Given the description of an element on the screen output the (x, y) to click on. 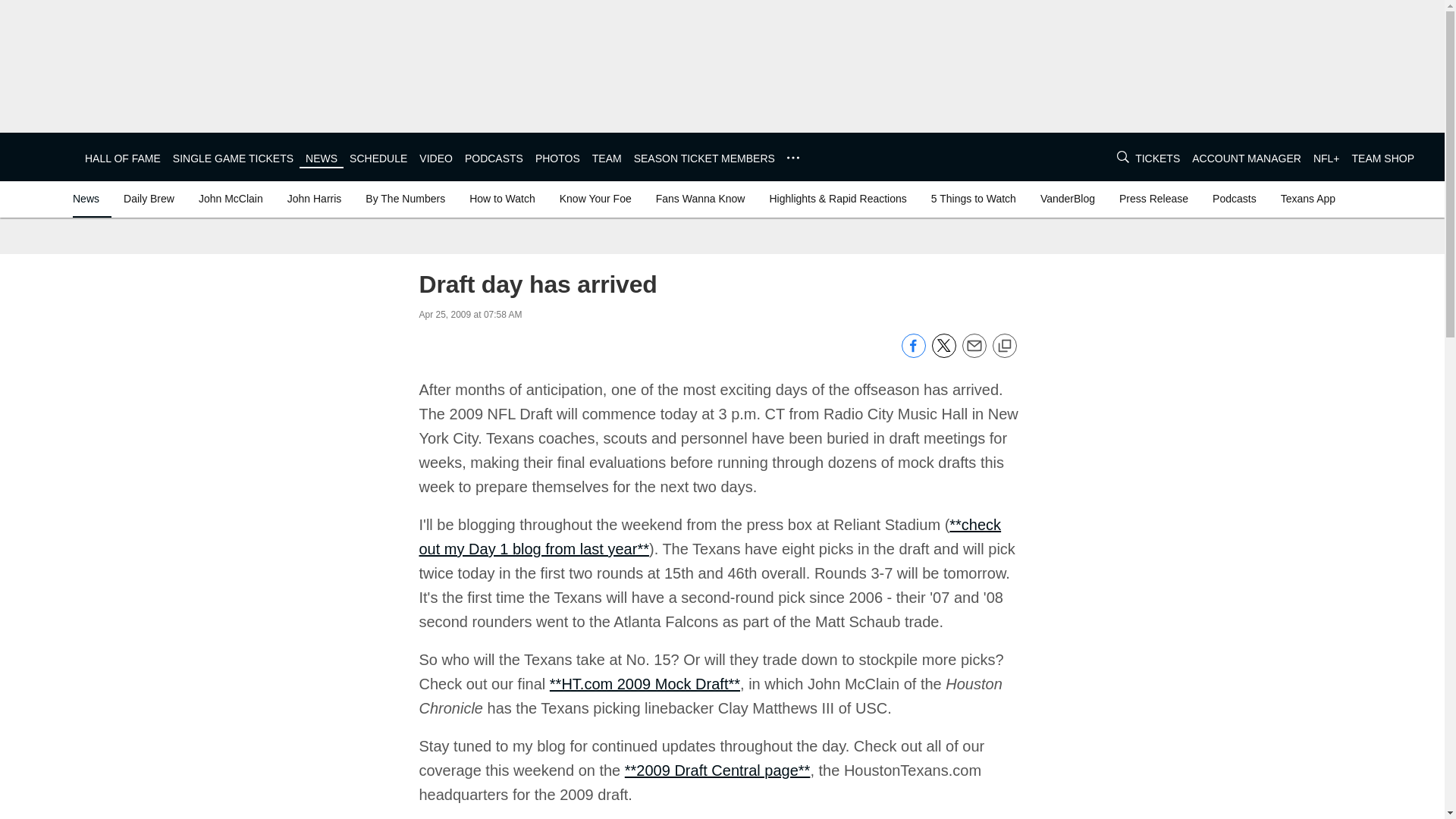
Link to club's homepage (42, 156)
SEASON TICKET MEMBERS (703, 158)
TICKETS (1157, 158)
News (88, 198)
TEAM (606, 158)
PHOTOS (557, 158)
NEWS (321, 158)
ACCOUNT MANAGER (1246, 158)
Daily Brew (148, 198)
John Harris (314, 198)
